Given the description of an element on the screen output the (x, y) to click on. 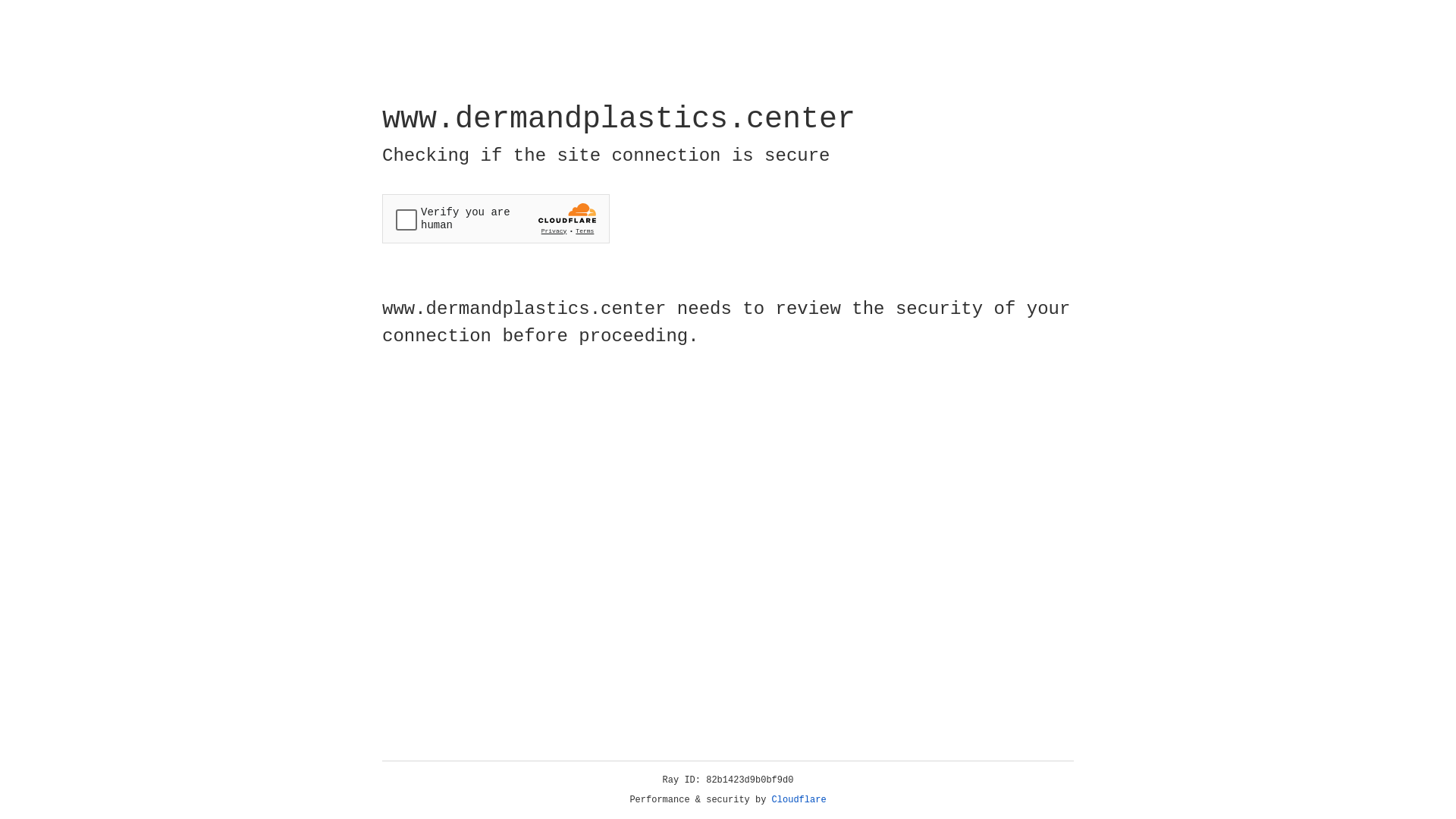
Cloudflare Element type: text (798, 799)
Widget containing a Cloudflare security challenge Element type: hover (495, 218)
